Given the description of an element on the screen output the (x, y) to click on. 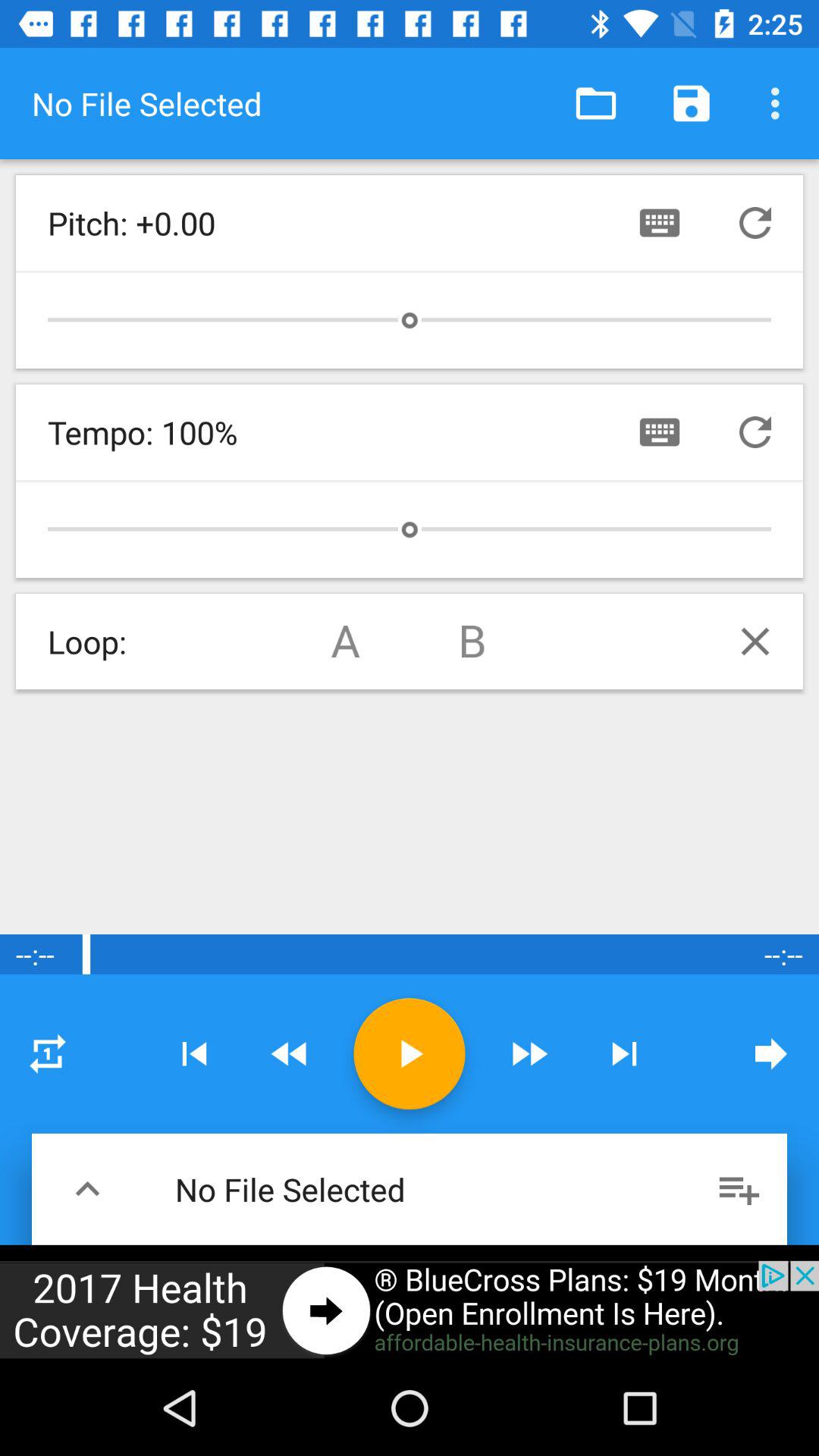
play audio file (409, 1053)
